Given the description of an element on the screen output the (x, y) to click on. 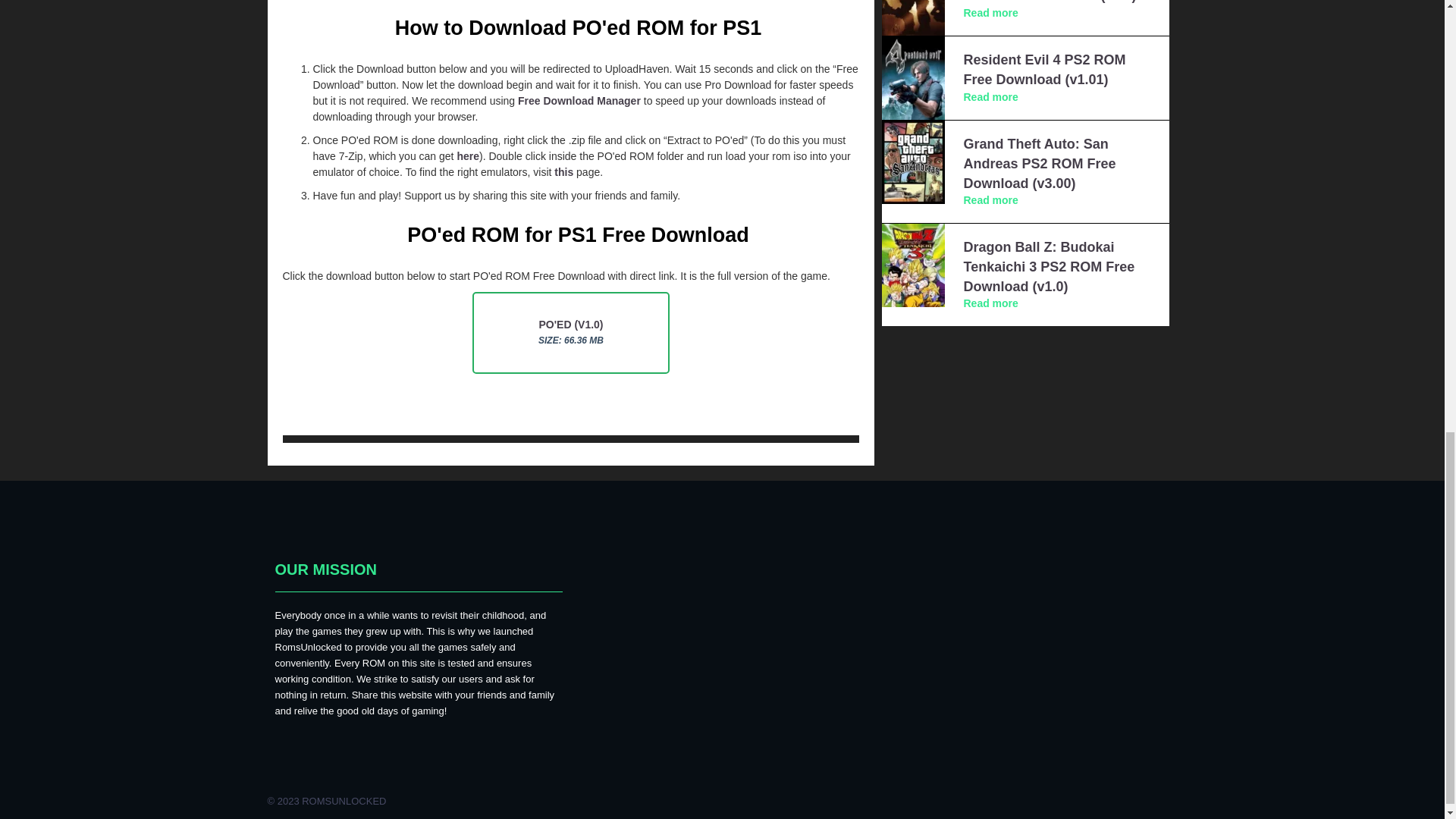
Read more (989, 200)
this (563, 172)
here (468, 155)
Free Download Manager (579, 101)
Read more (989, 96)
Read more (989, 12)
